Given the description of an element on the screen output the (x, y) to click on. 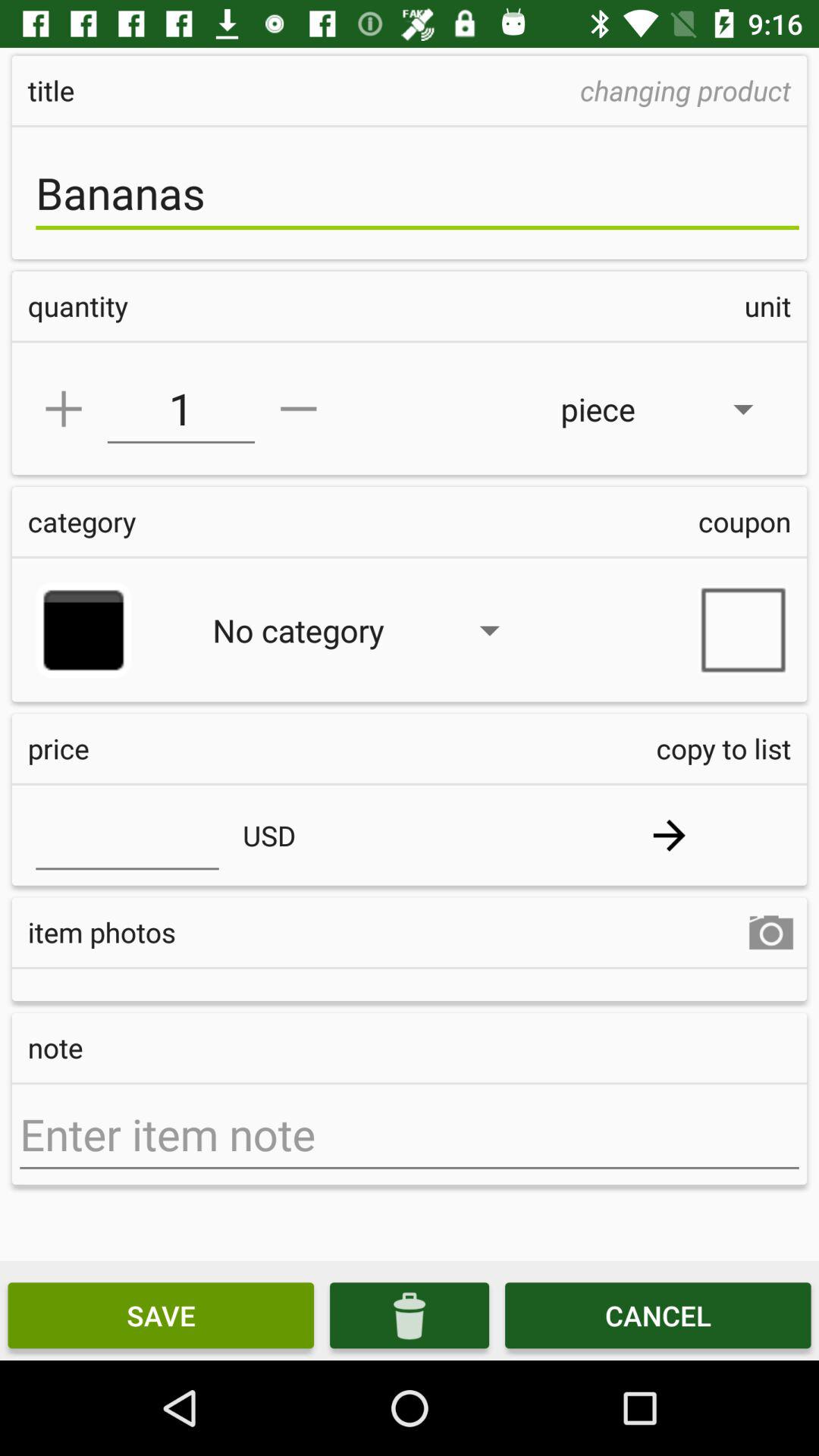
send to list (669, 835)
